Given the description of an element on the screen output the (x, y) to click on. 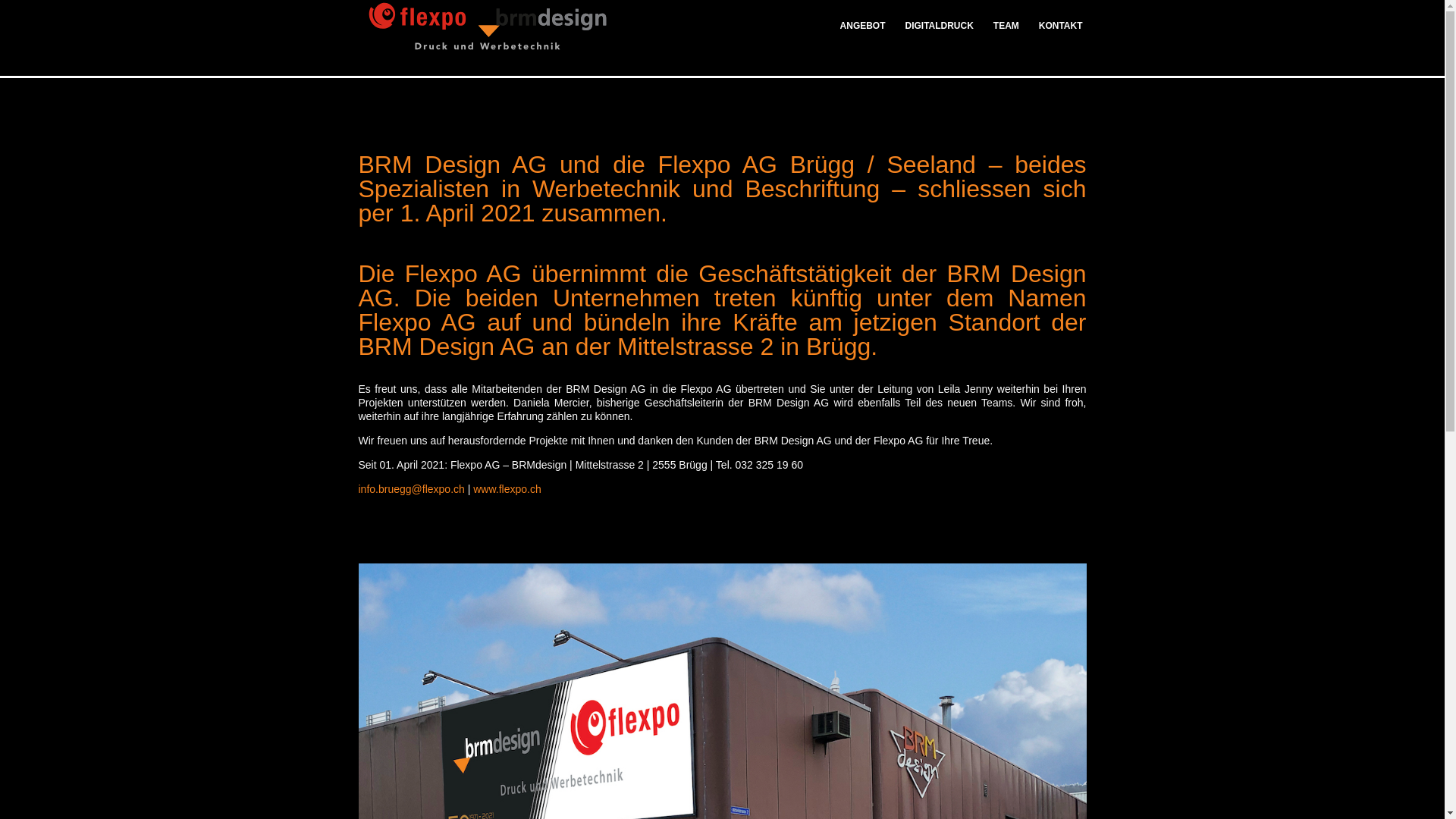
DIGITALDRUCK Element type: text (939, 37)
ANGEBOT Element type: text (867, 37)
info.bruegg@flexpo.ch Element type: text (410, 489)
www.flexpo.ch Element type: text (506, 489)
KONTAKT Element type: text (1055, 37)
TEAM Element type: text (1006, 37)
